Given the description of an element on the screen output the (x, y) to click on. 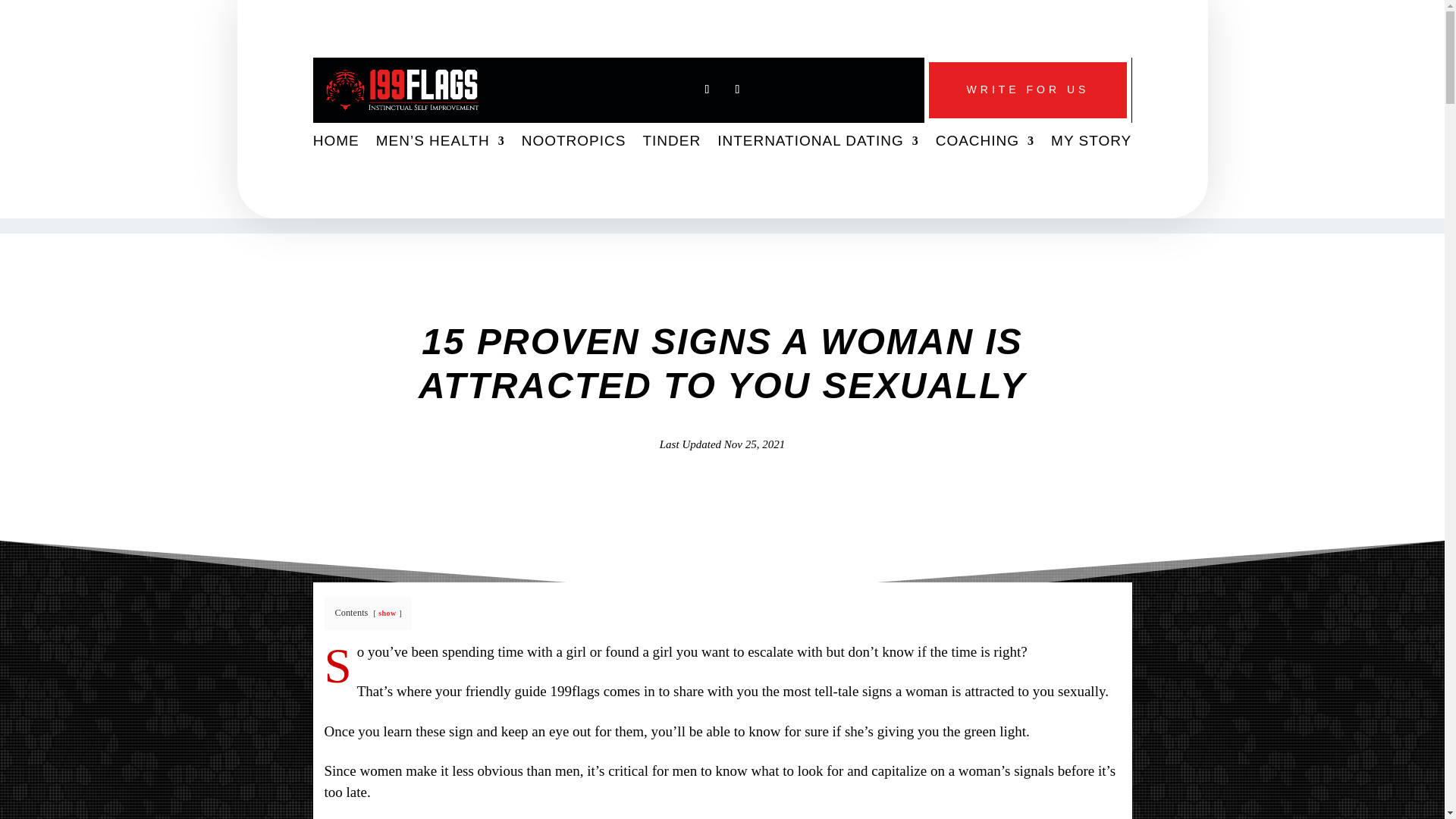
Follow on X (706, 88)
199 red logo (401, 89)
NOOTROPICS (573, 143)
MY STORY (1091, 143)
INTERNATIONAL DATING (817, 143)
TINDER (671, 143)
COACHING (984, 143)
HOME (336, 143)
Follow on Pinterest (737, 88)
WRITE FOR US (1028, 89)
